Given the description of an element on the screen output the (x, y) to click on. 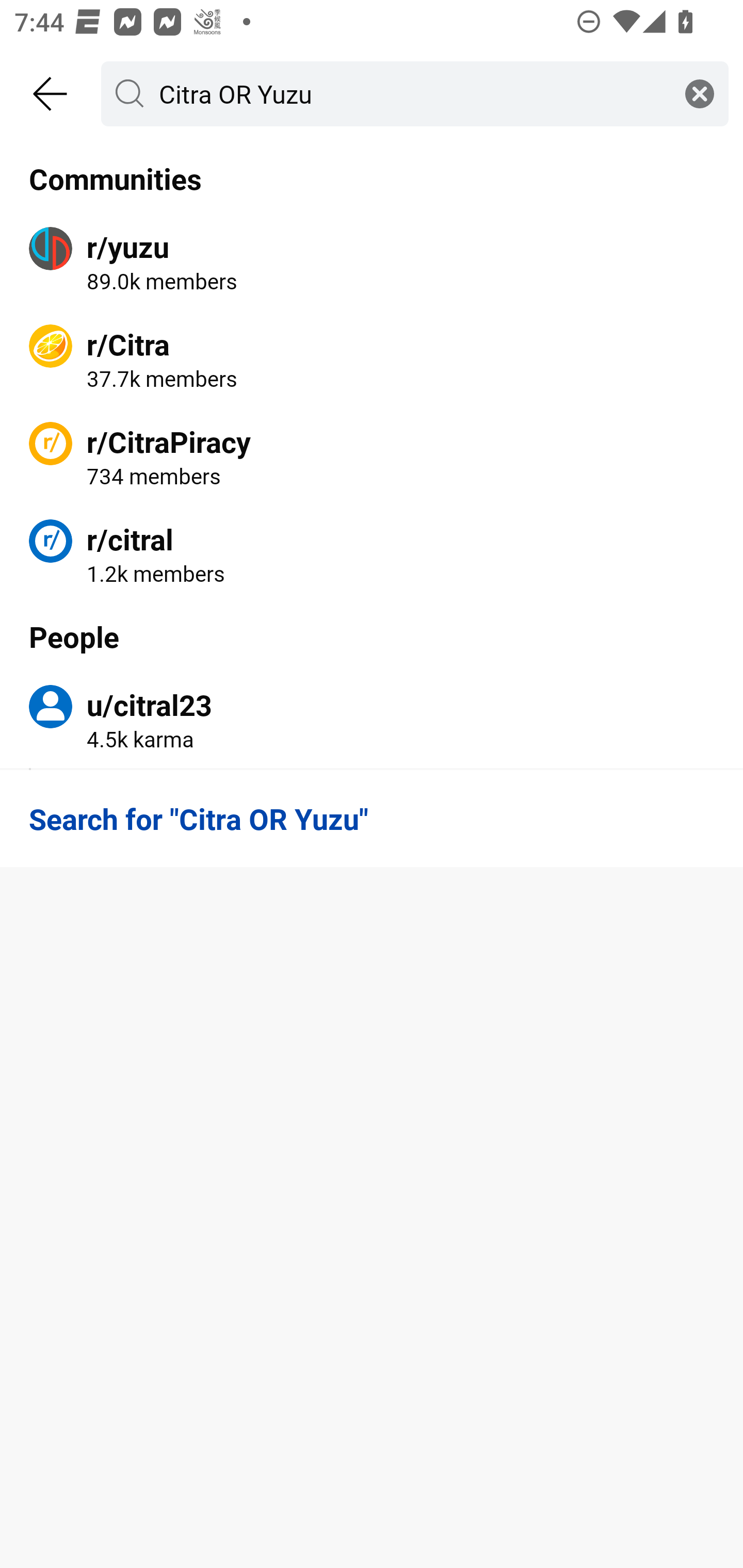
Back (50, 93)
Citra OR Yuzu (410, 93)
Clear search (699, 93)
r/yuzu 89.0k members 89.0 thousand members (371, 261)
r/Citra 37.7k members 37.7 thousand members (371, 358)
r/CitraPiracy 734 members 734 members (371, 455)
r/citral 1.2k members 1.2 thousand members (371, 553)
u/citral23 4.5k karma 4.5 thousand karma (371, 719)
Search for "Citra OR Yuzu" (371, 818)
